Given the description of an element on the screen output the (x, y) to click on. 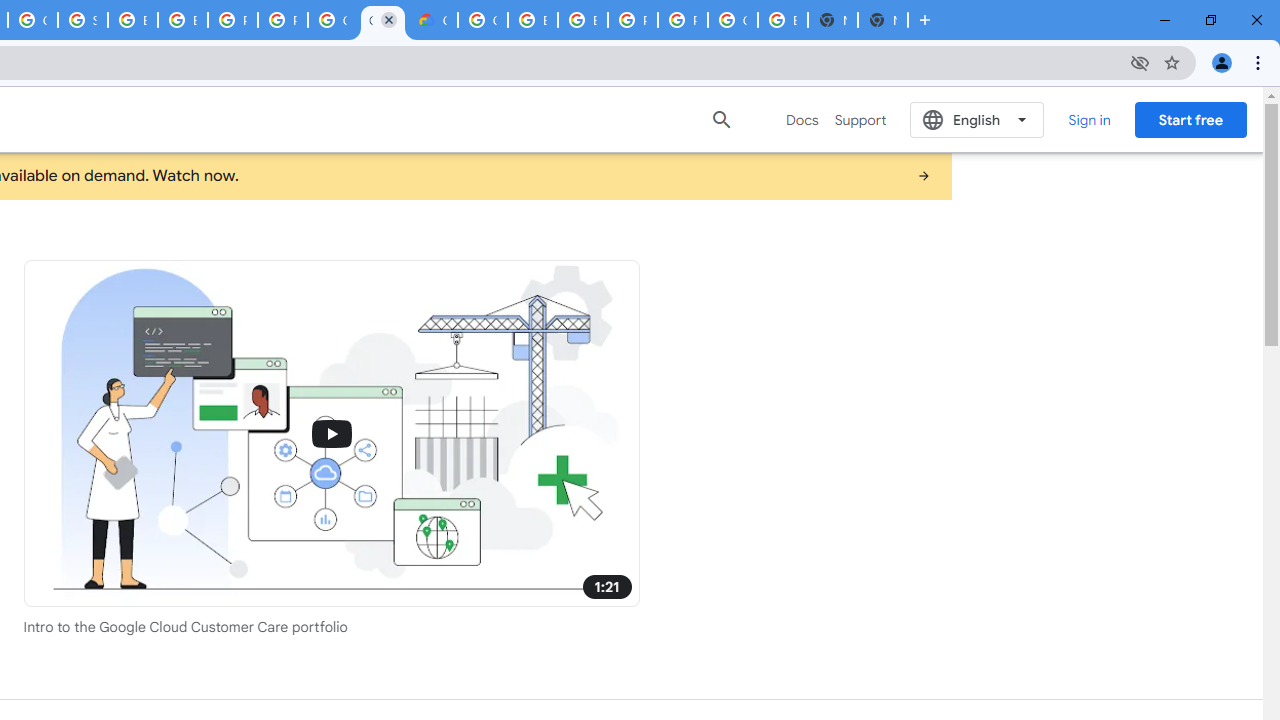
New Tab (882, 20)
Browse Chrome as a guest - Computer - Google Chrome Help (582, 20)
Sign in - Google Accounts (82, 20)
Browse Chrome as a guest - Computer - Google Chrome Help (132, 20)
Docs (802, 119)
Google Cloud Platform (333, 20)
Google Cloud Platform (732, 20)
Customer Care | Google Cloud (383, 20)
